Given the description of an element on the screen output the (x, y) to click on. 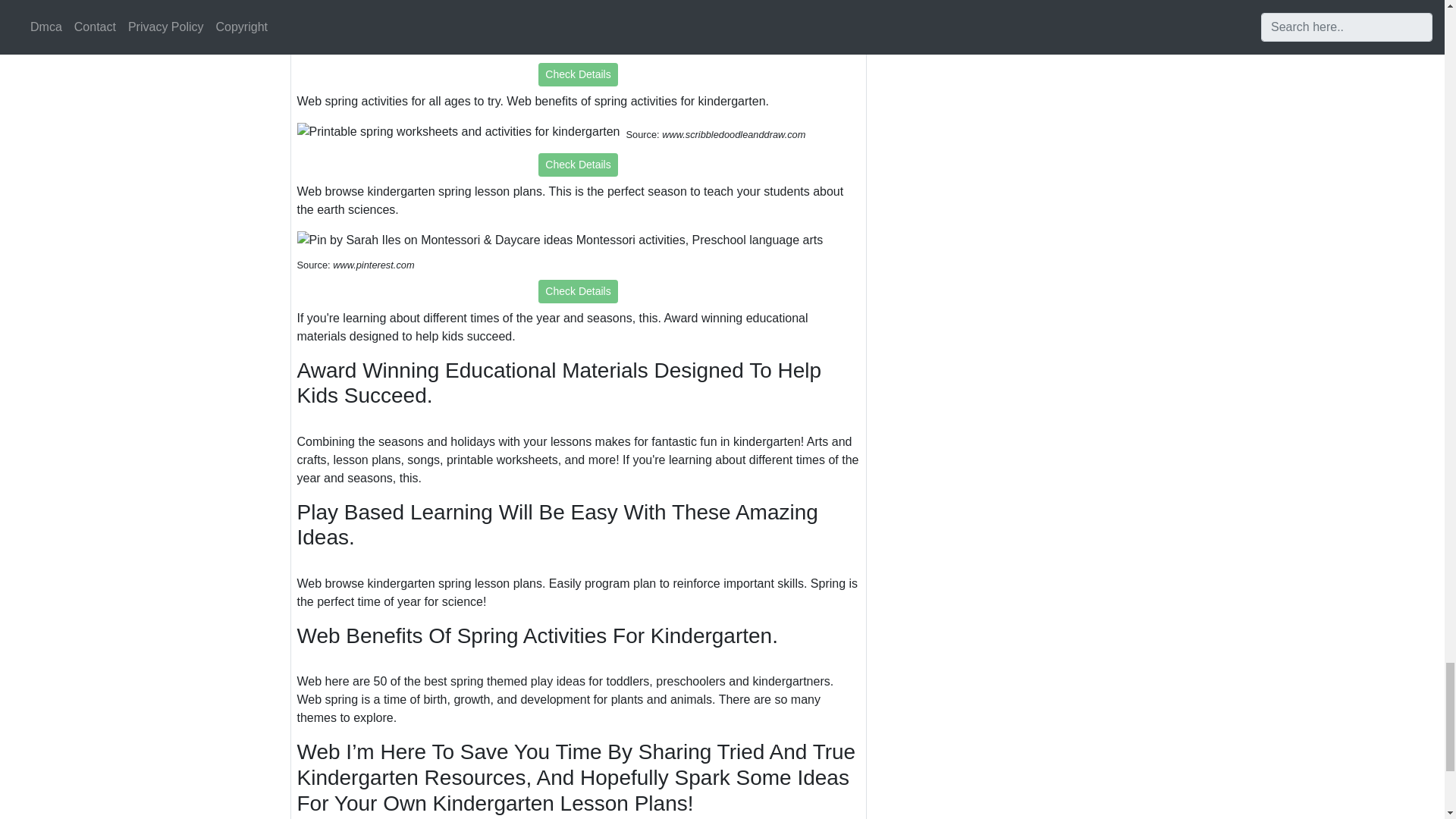
Check Details (577, 164)
Check Details (577, 74)
Check Details (577, 291)
